Given the description of an element on the screen output the (x, y) to click on. 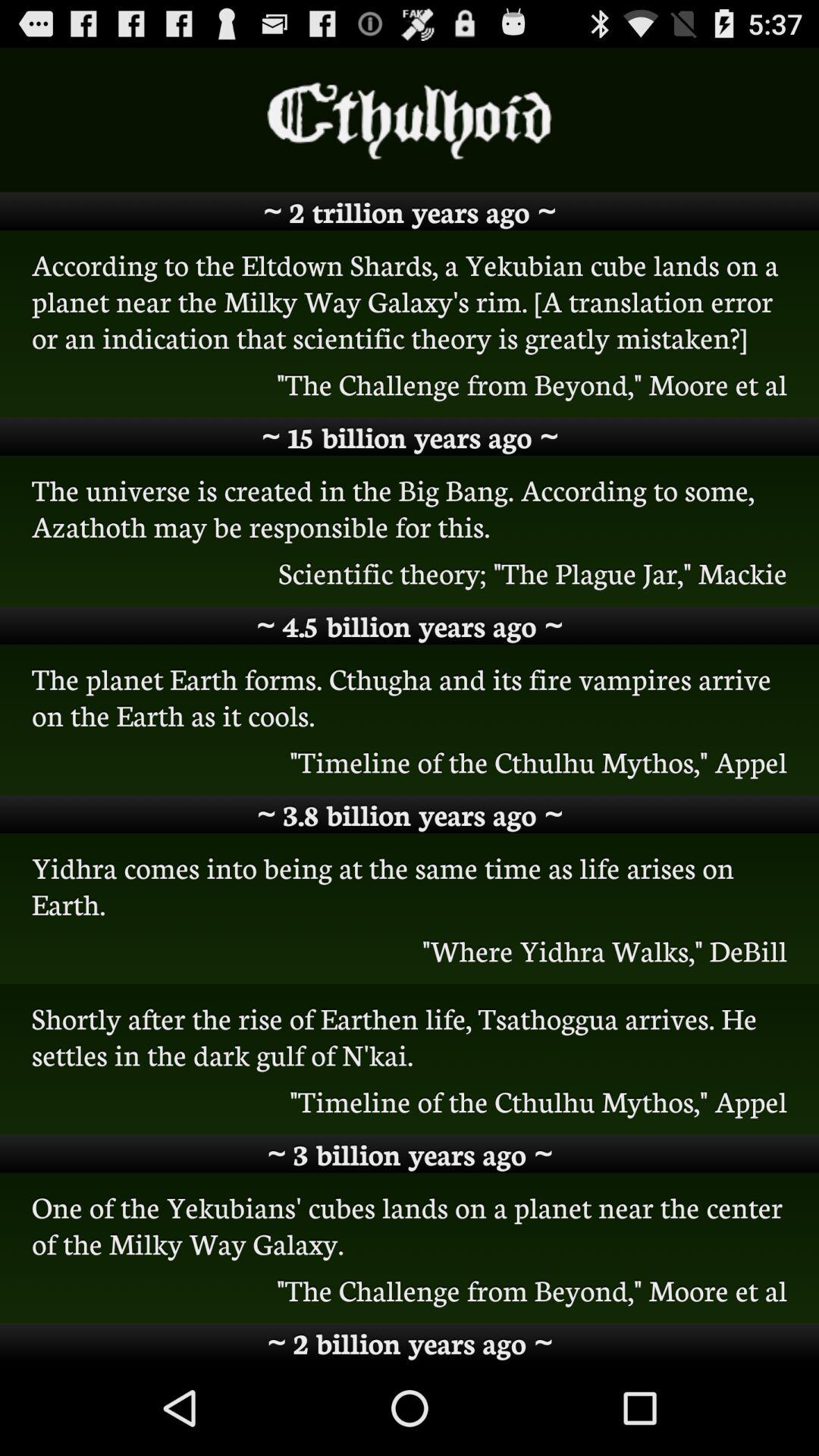
turn on the icon below timeline of the (409, 814)
